Given the description of an element on the screen output the (x, y) to click on. 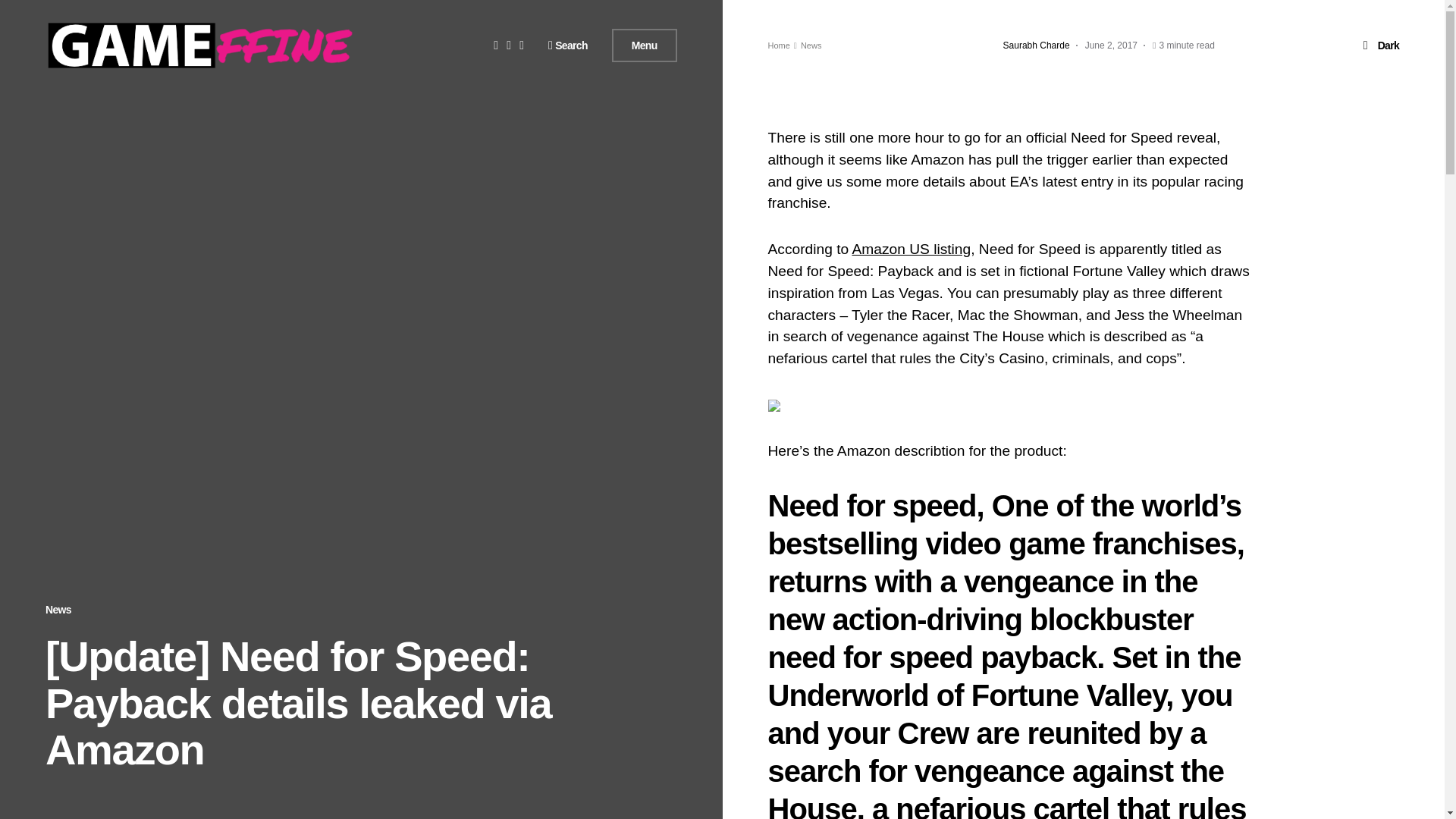
View all posts by Saurabh Charde (1036, 45)
News (58, 609)
Home (778, 45)
